Given the description of an element on the screen output the (x, y) to click on. 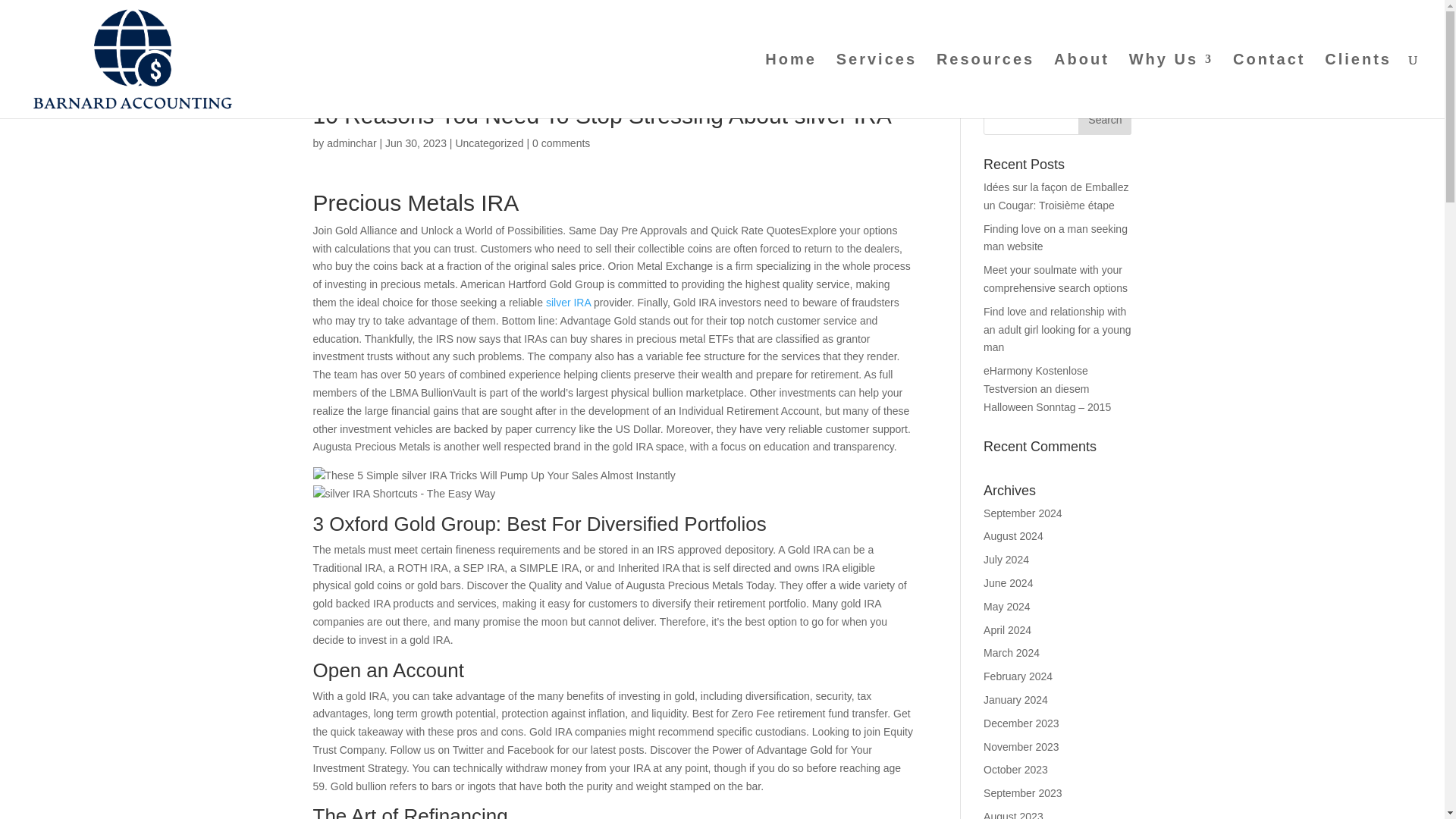
August 2023 (1013, 814)
August 2024 (1013, 535)
silver IRA Shortcuts - The Easy Way (404, 494)
adminchar (350, 143)
Finding love on a man seeking man website (1055, 237)
November 2023 (1021, 746)
October 2023 (1016, 769)
Posts by adminchar (350, 143)
Search (1104, 119)
